Given the description of an element on the screen output the (x, y) to click on. 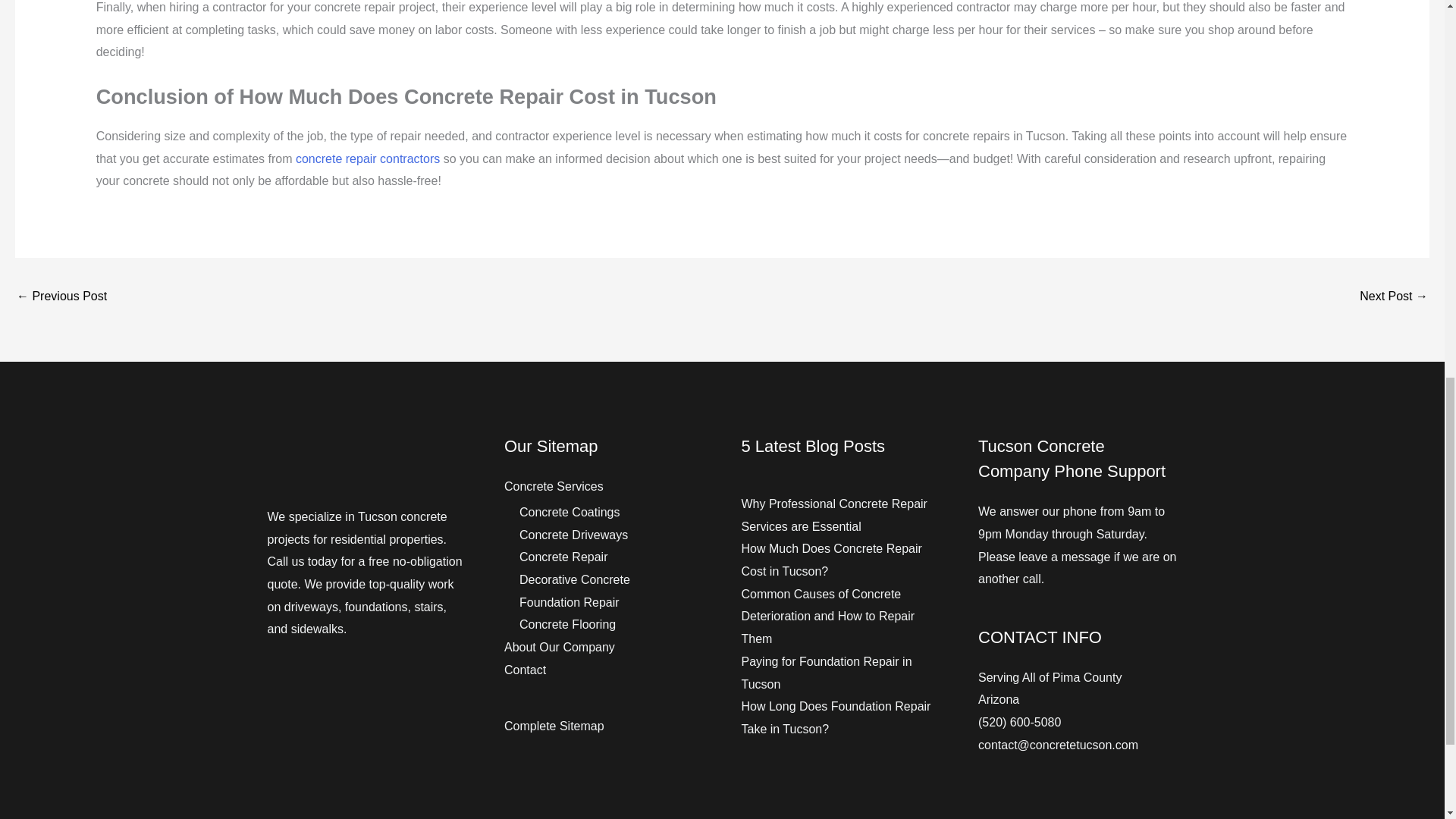
Concrete Repair (563, 556)
Why Professional Concrete Repair Services are Essential (1393, 297)
concrete repair contractors (367, 158)
Concrete Driveways (573, 534)
Concrete Coatings (569, 512)
Concrete Services (553, 486)
Decorative Concrete (574, 579)
